Given the description of an element on the screen output the (x, y) to click on. 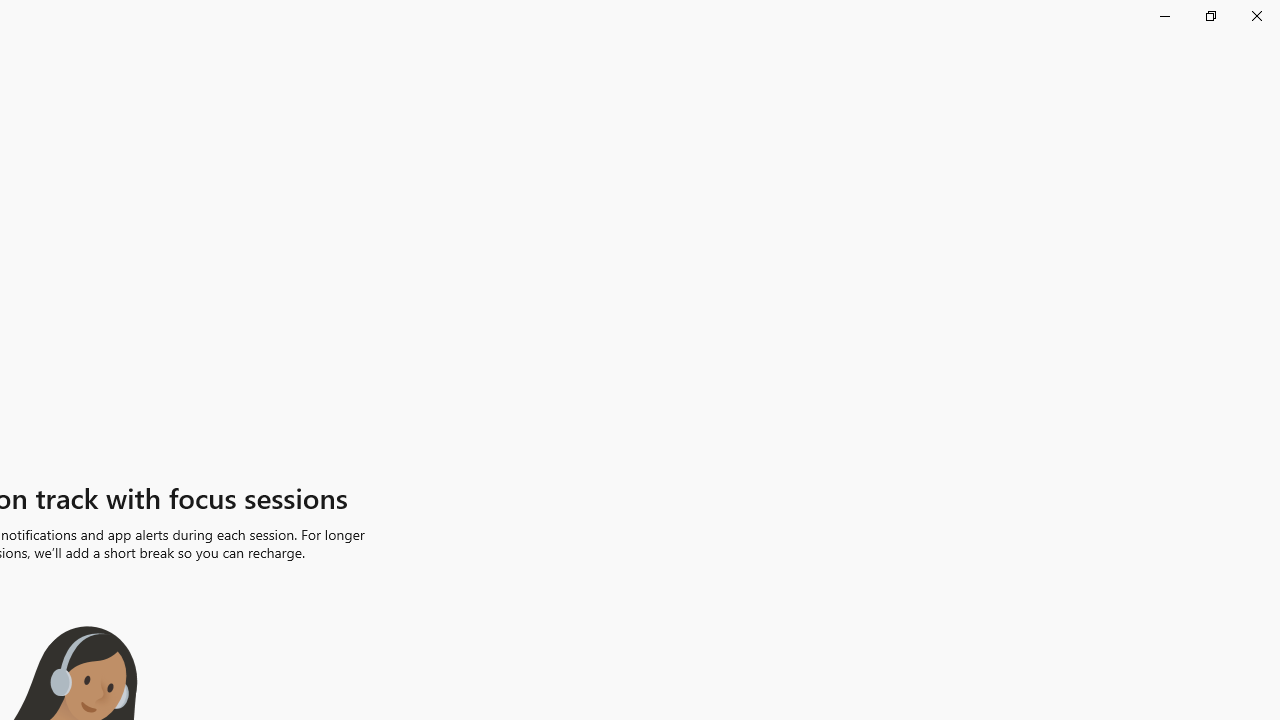
Restore Clock (1210, 15)
Minimize Clock (1164, 15)
Close Clock (1256, 15)
